Given the description of an element on the screen output the (x, y) to click on. 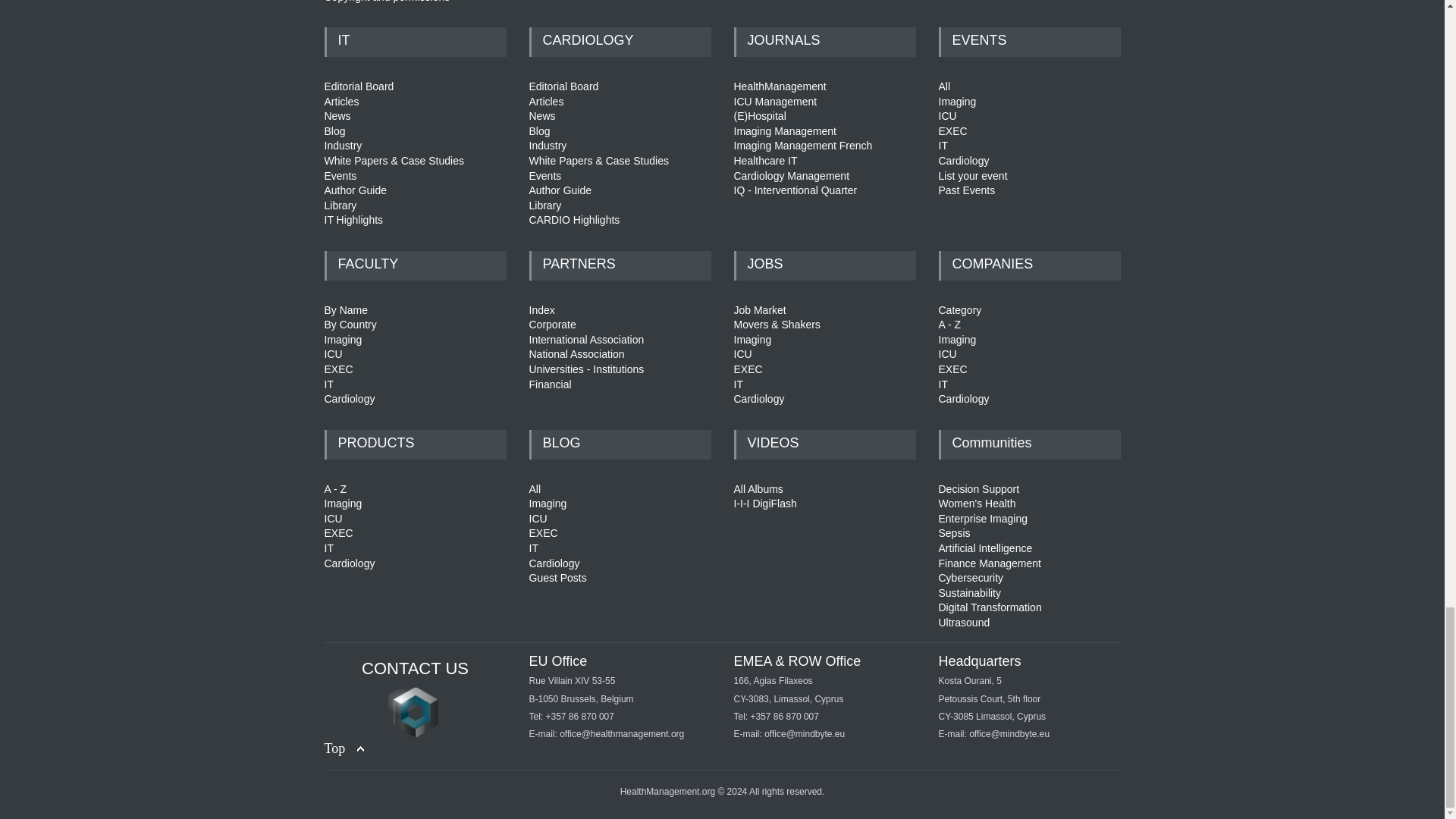
Top (344, 748)
